Given the description of an element on the screen output the (x, y) to click on. 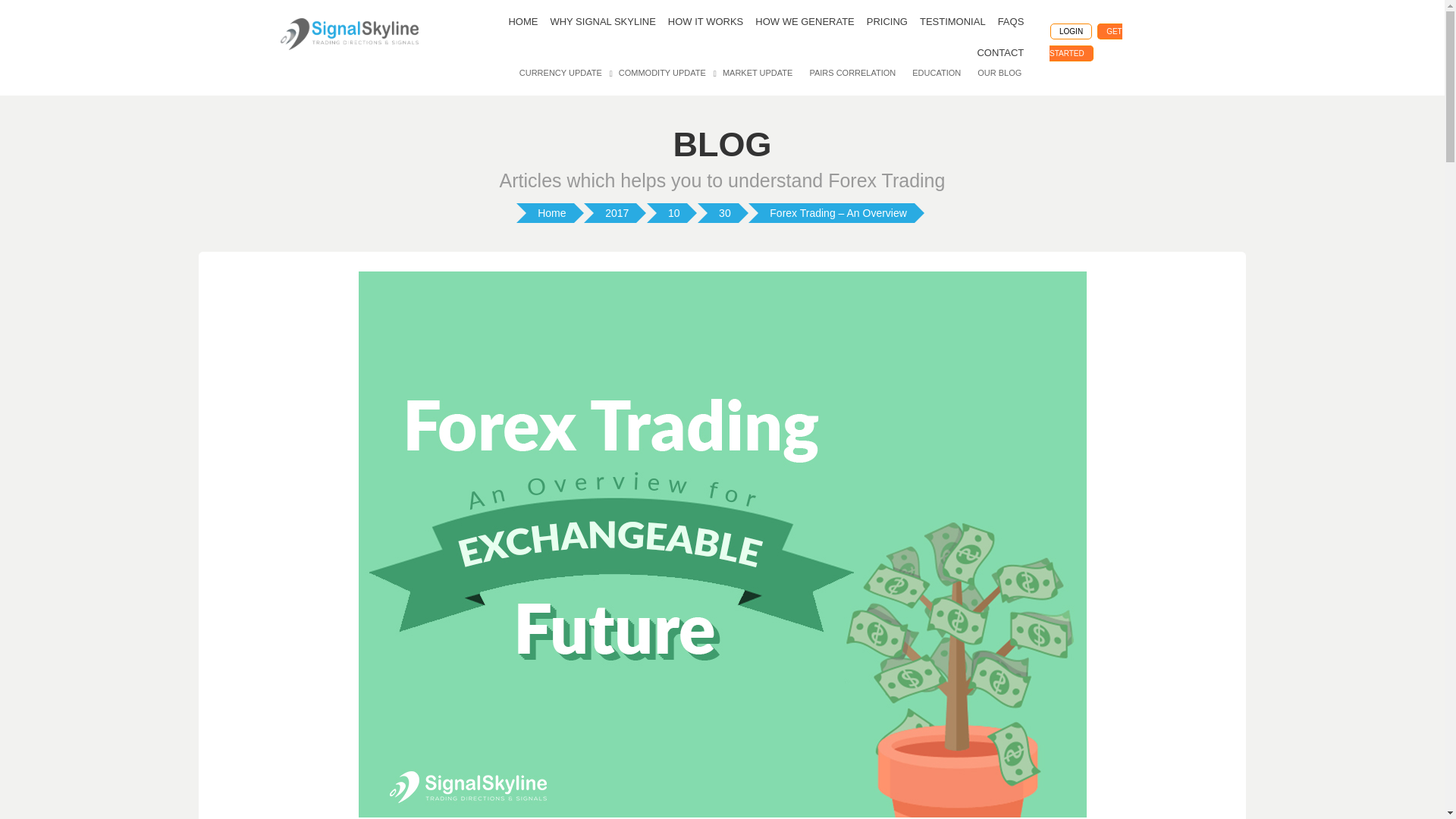
HOW WE GENERATE (804, 21)
HOME (522, 21)
How It Works (705, 21)
Pricing (887, 21)
Frequently Asked Questions (1010, 21)
Contact Signal Skyline (1000, 52)
COMMODITY UPDATE (662, 71)
FAQS (1010, 21)
How We Generate (804, 21)
TESTIMONIAL (952, 21)
